Given the description of an element on the screen output the (x, y) to click on. 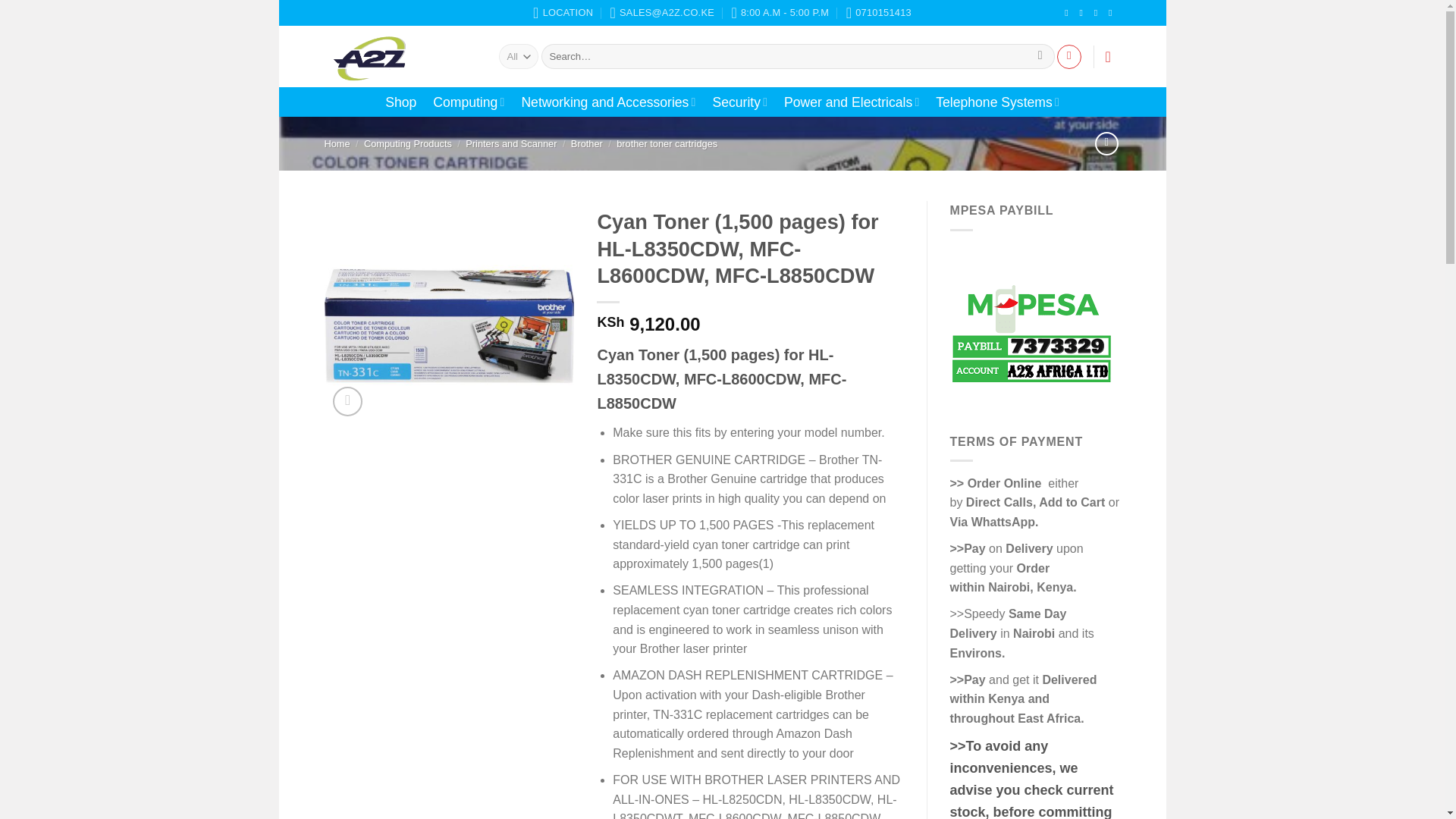
8:00 A.M - 5:00 P.M  (779, 12)
Shop (400, 102)
A2Z Africa Kenya - Simple Solution for Complex Connections (400, 55)
8:00 A.M - 5:00 P.M (779, 12)
LOCATION (562, 12)
Computing (467, 101)
MAMA NGINA STREET (562, 12)
